Given the description of an element on the screen output the (x, y) to click on. 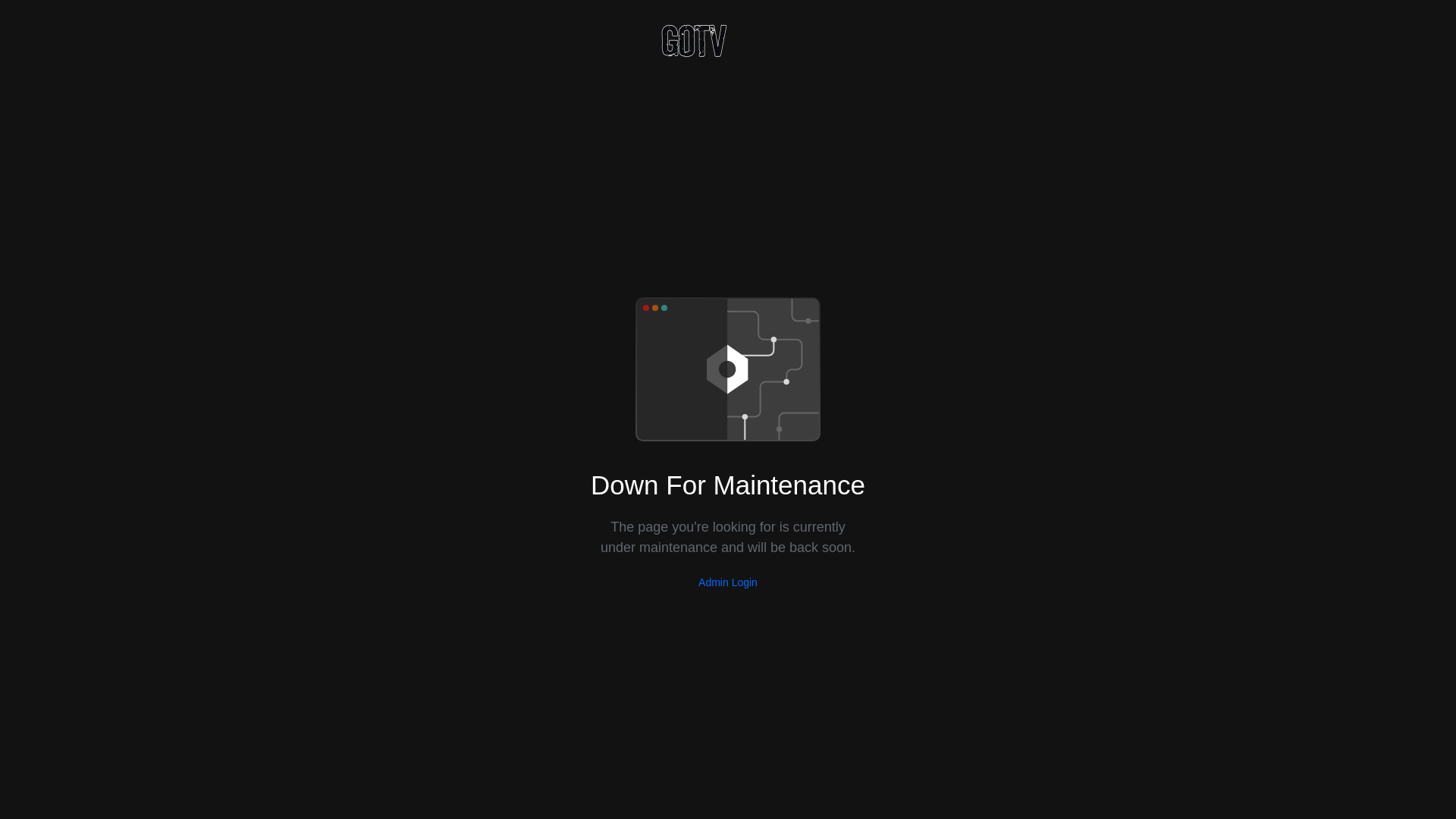
Admin Login Element type: text (727, 582)
